Given the description of an element on the screen output the (x, y) to click on. 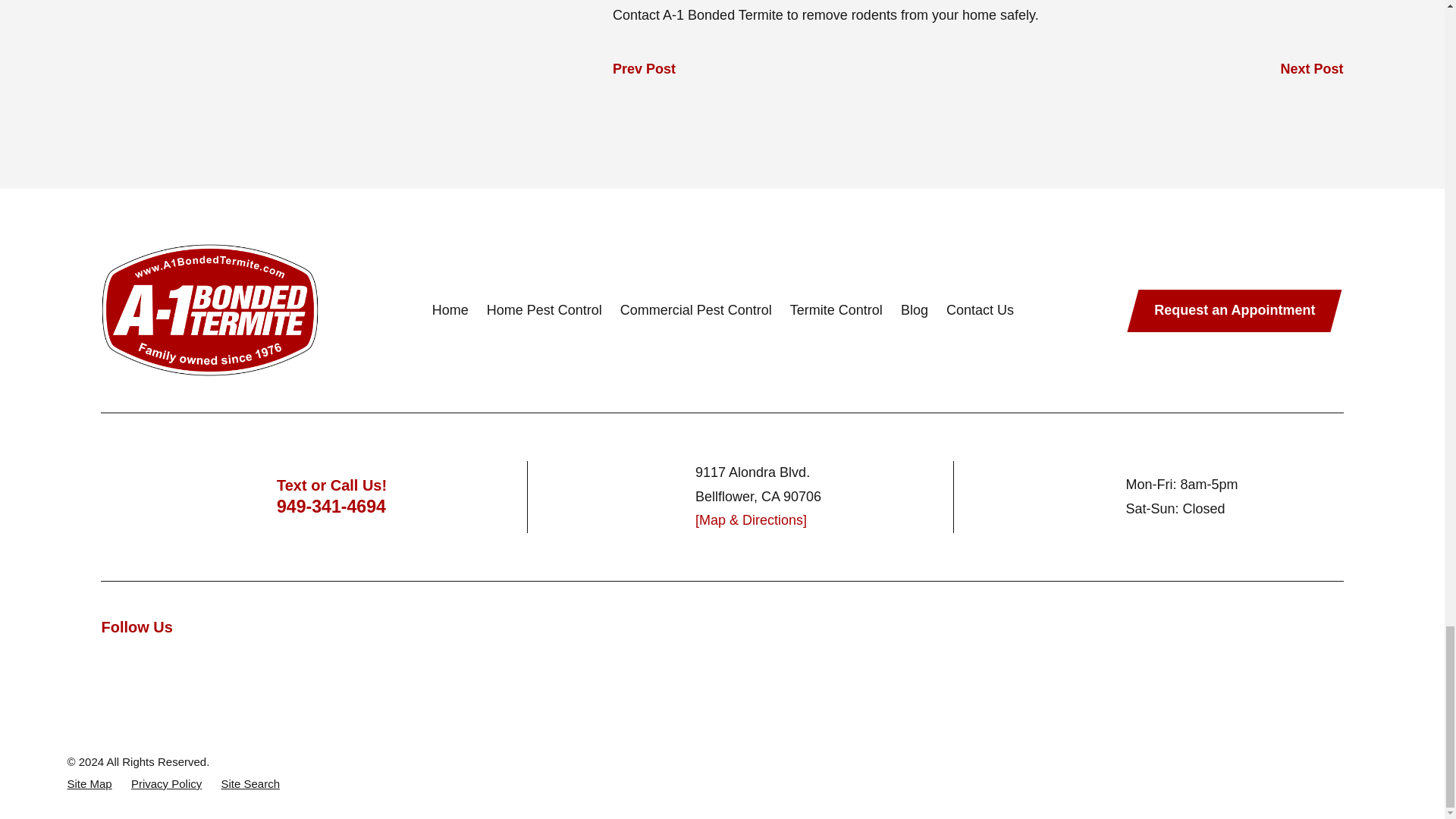
Home (209, 309)
Twitter (147, 660)
Google Business Profile (185, 660)
Facebook (109, 660)
